Given the description of an element on the screen output the (x, y) to click on. 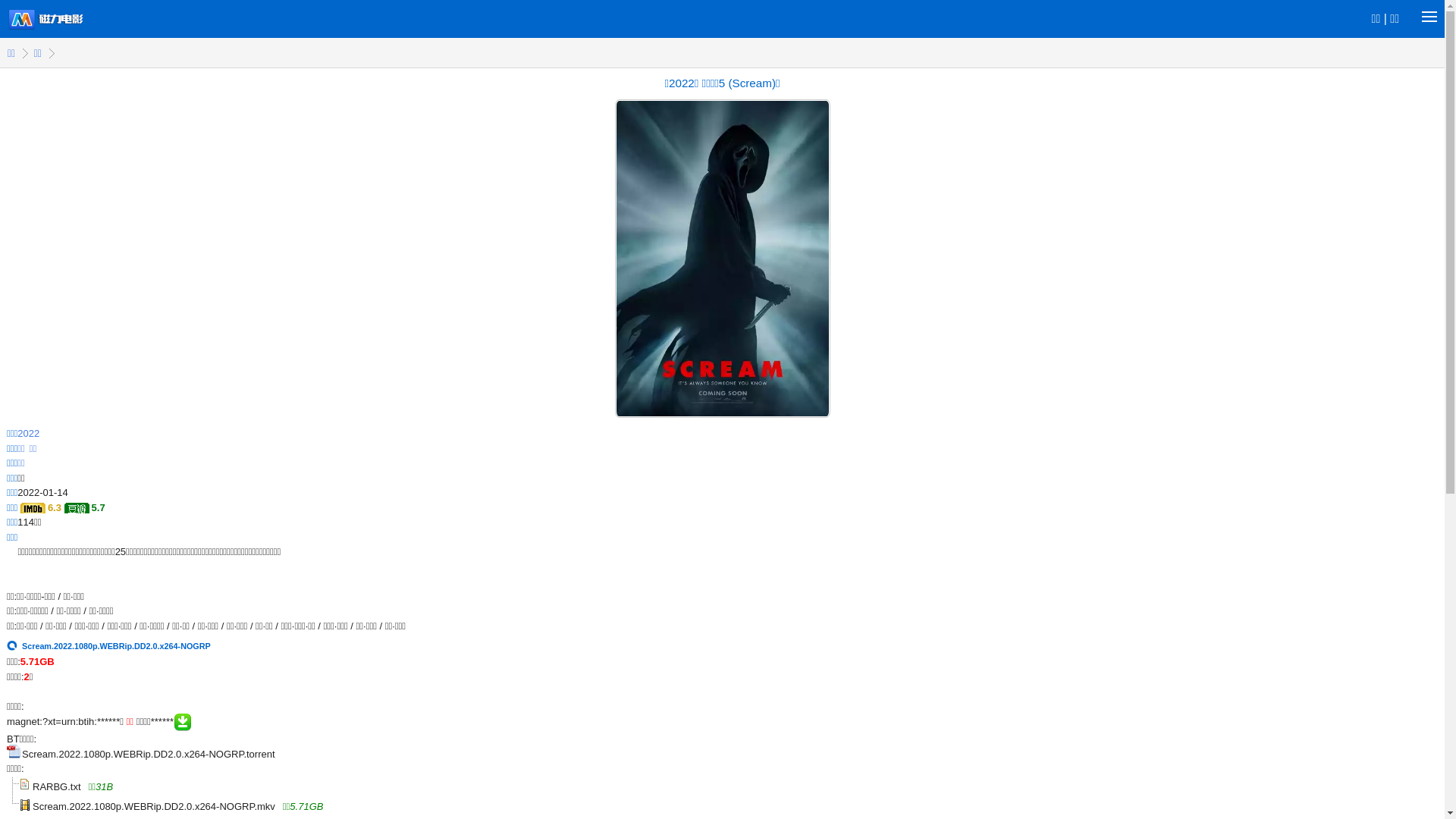
2022 Element type: text (28, 433)
